Given the description of an element on the screen output the (x, y) to click on. 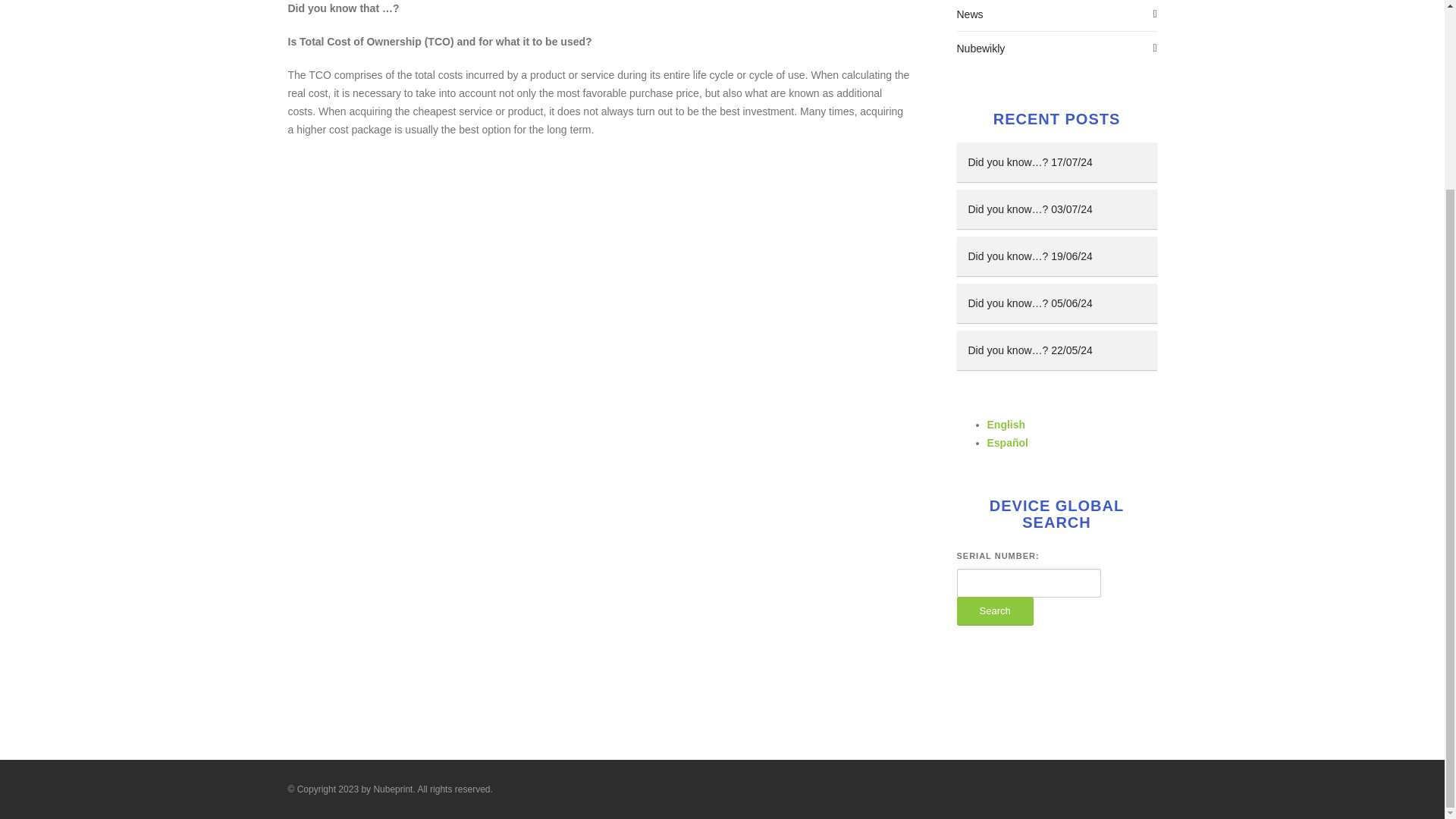
English (1006, 424)
Search (994, 611)
News (1056, 15)
Search (994, 611)
Nubewikly (1056, 48)
